Given the description of an element on the screen output the (x, y) to click on. 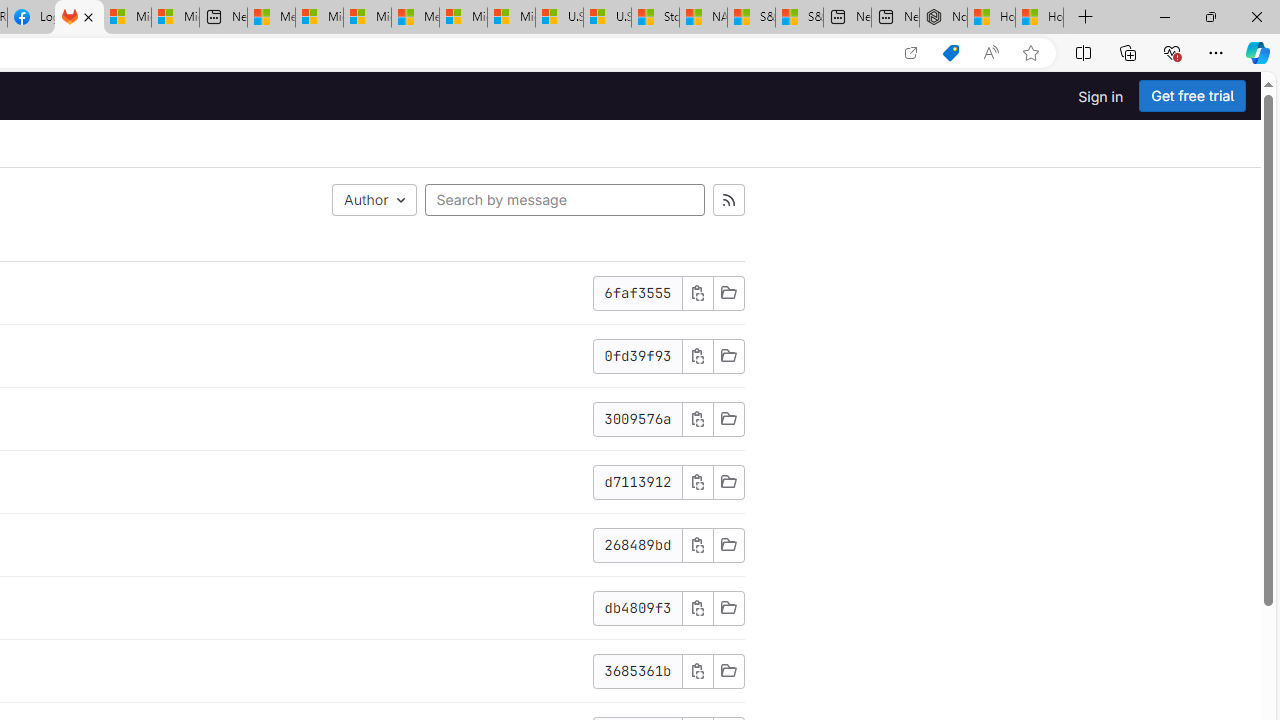
Class: s16 gl-icon gl-button-icon  (697, 670)
Class: s16 (728, 670)
Author (374, 200)
